Given the description of an element on the screen output the (x, y) to click on. 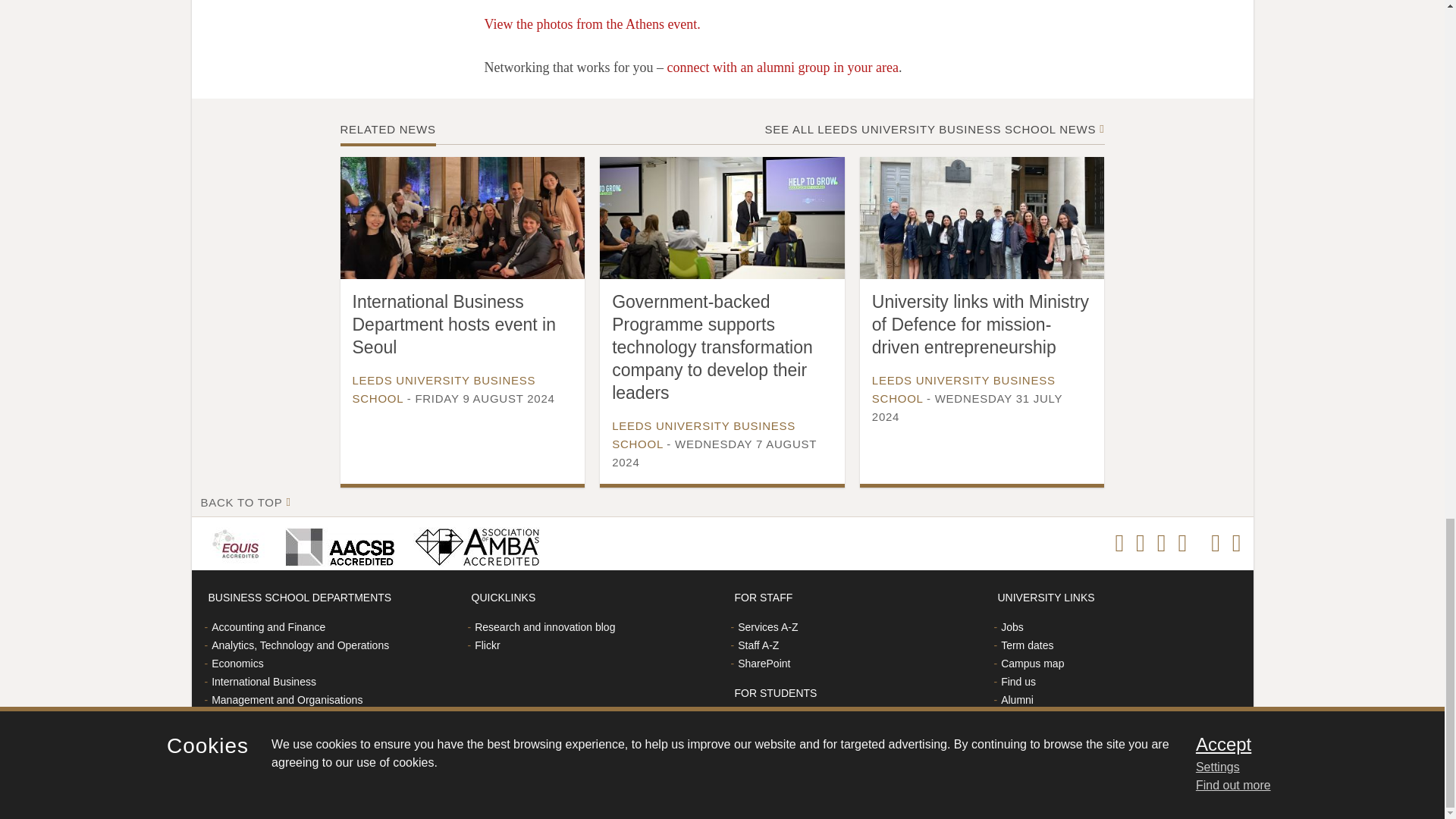
Visit 3-AMBA (472, 543)
Visit 2-AACSB (337, 543)
Visit 1-EFMD (237, 543)
